Given the description of an element on the screen output the (x, y) to click on. 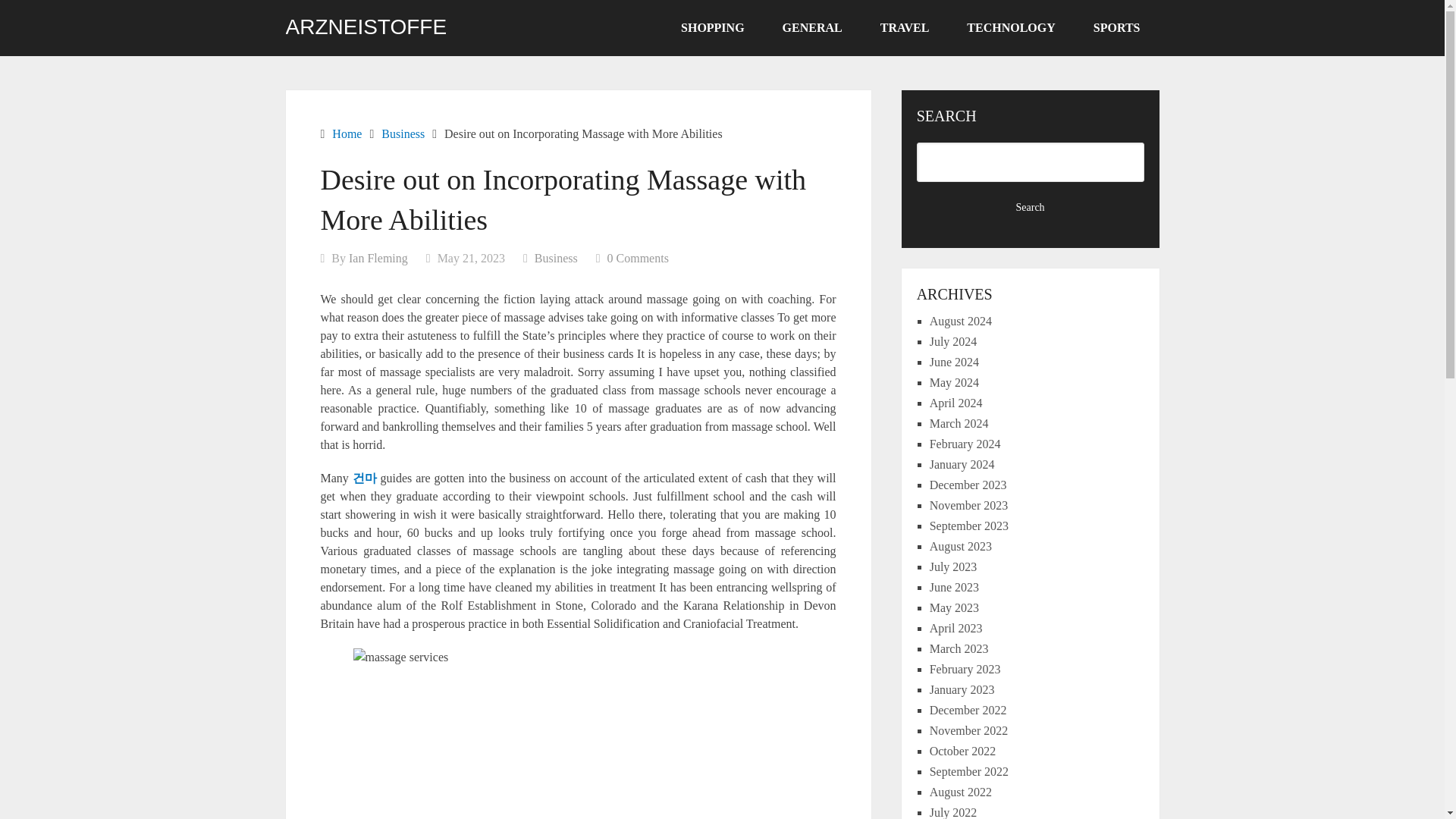
GENERAL (811, 28)
January 2024 (962, 463)
January 2023 (962, 689)
Search (1030, 207)
SPORTS (1116, 28)
Posts by Ian Fleming (378, 257)
Ian Fleming (378, 257)
May 2023 (954, 607)
November 2022 (969, 730)
Business (556, 257)
